Given the description of an element on the screen output the (x, y) to click on. 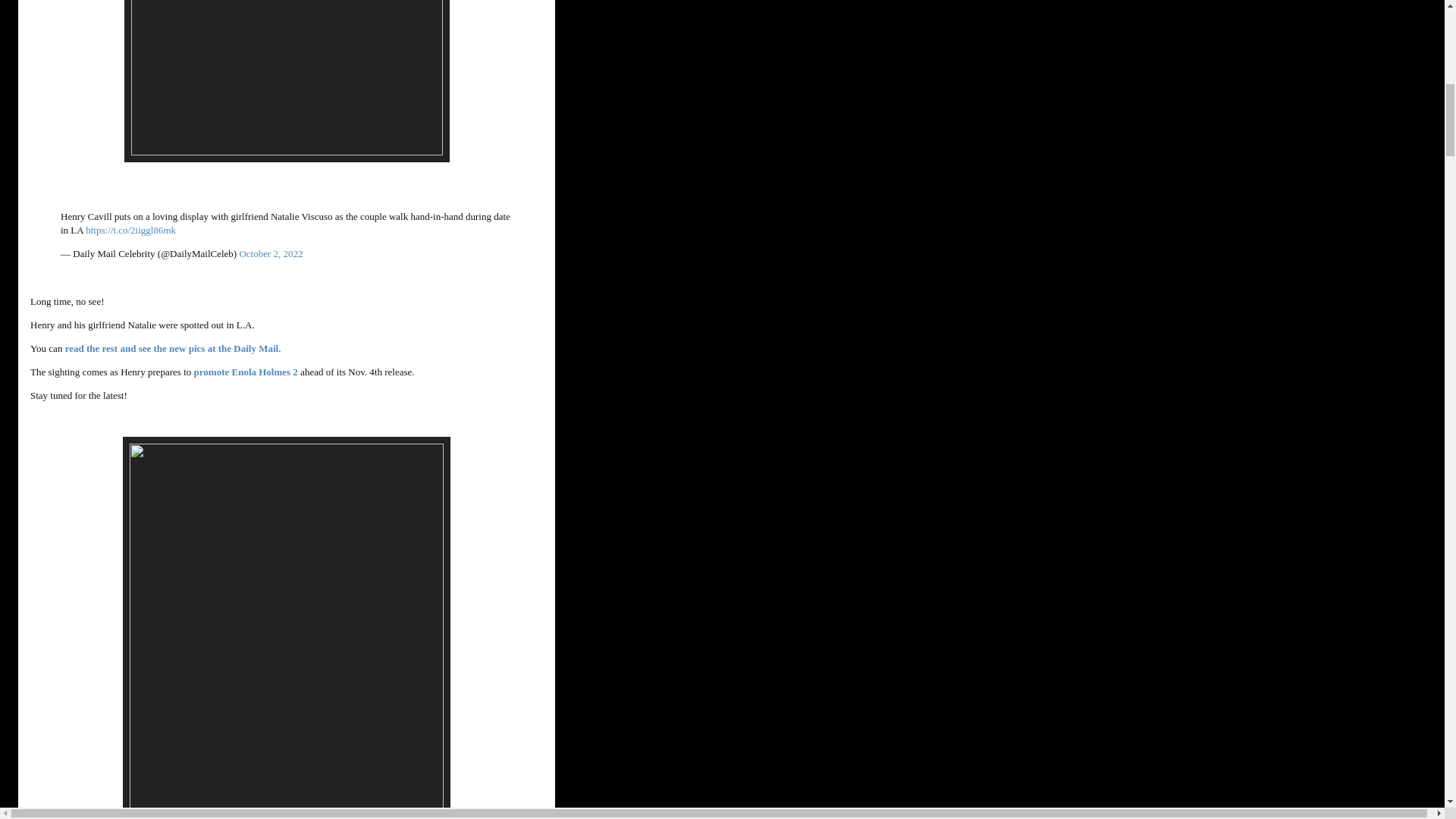
October 2, 2022 (270, 253)
read the rest and see the new pics at the Daily Mail (172, 348)
promote Enola Holmes 2 (245, 371)
